Given the description of an element on the screen output the (x, y) to click on. 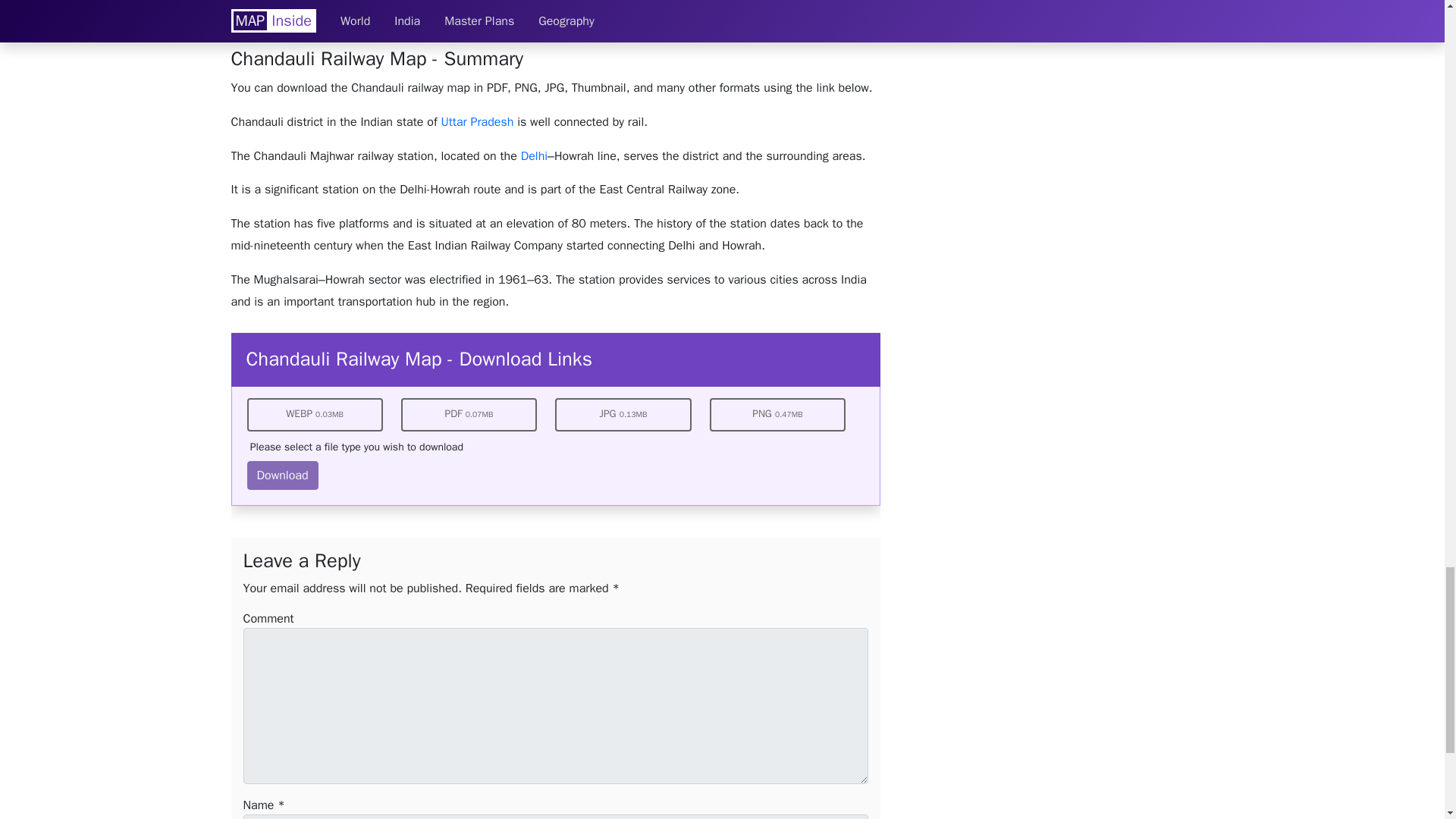
0 Comments (472, 15)
Download (282, 475)
Delhi (534, 155)
Uttar Pradesh (477, 121)
